Given the description of an element on the screen output the (x, y) to click on. 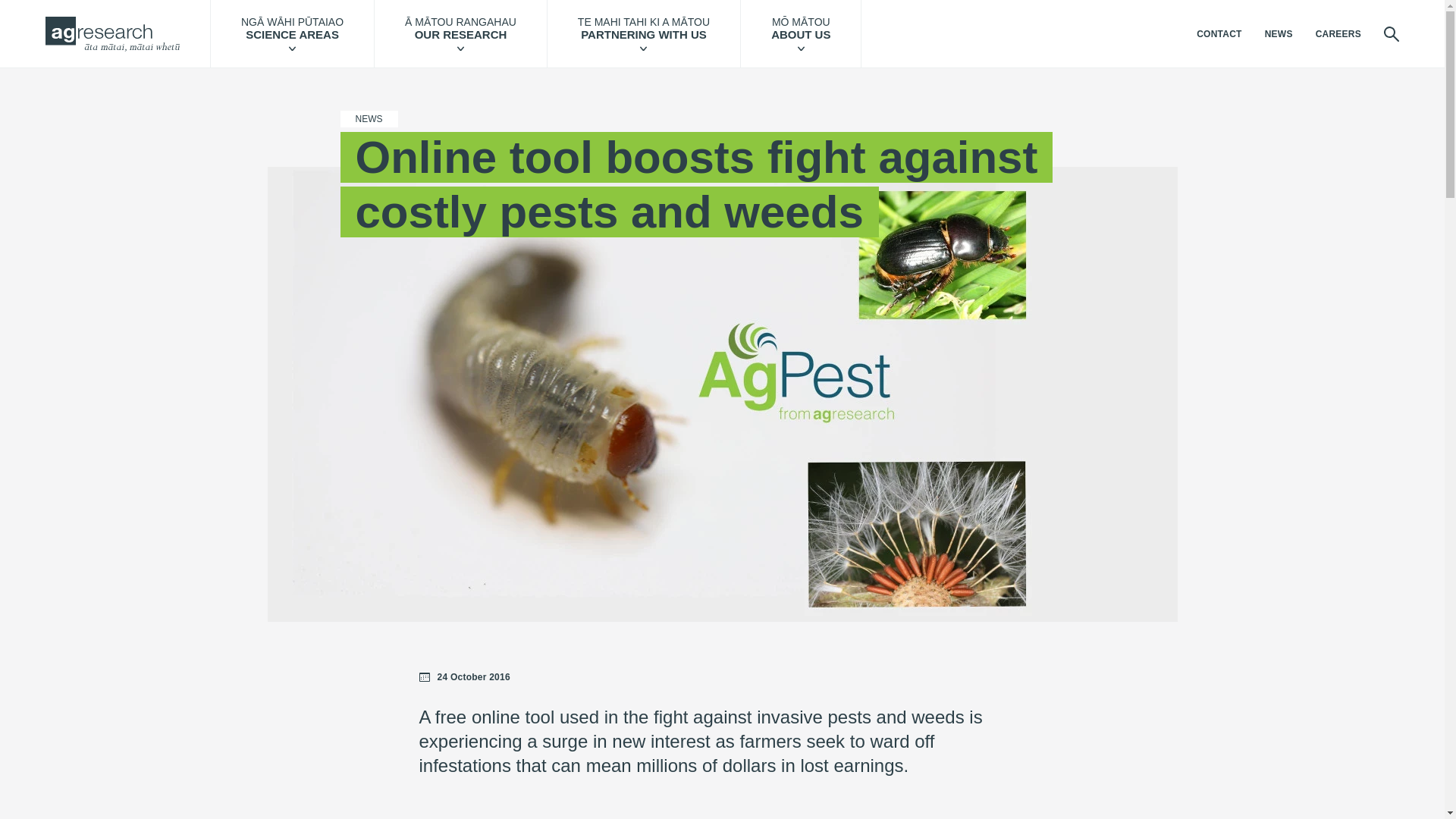
NEWS (1278, 28)
NEWS (368, 118)
CAREERS (1338, 30)
CONTACT (1218, 26)
agresearch (112, 2)
